Given the description of an element on the screen output the (x, y) to click on. 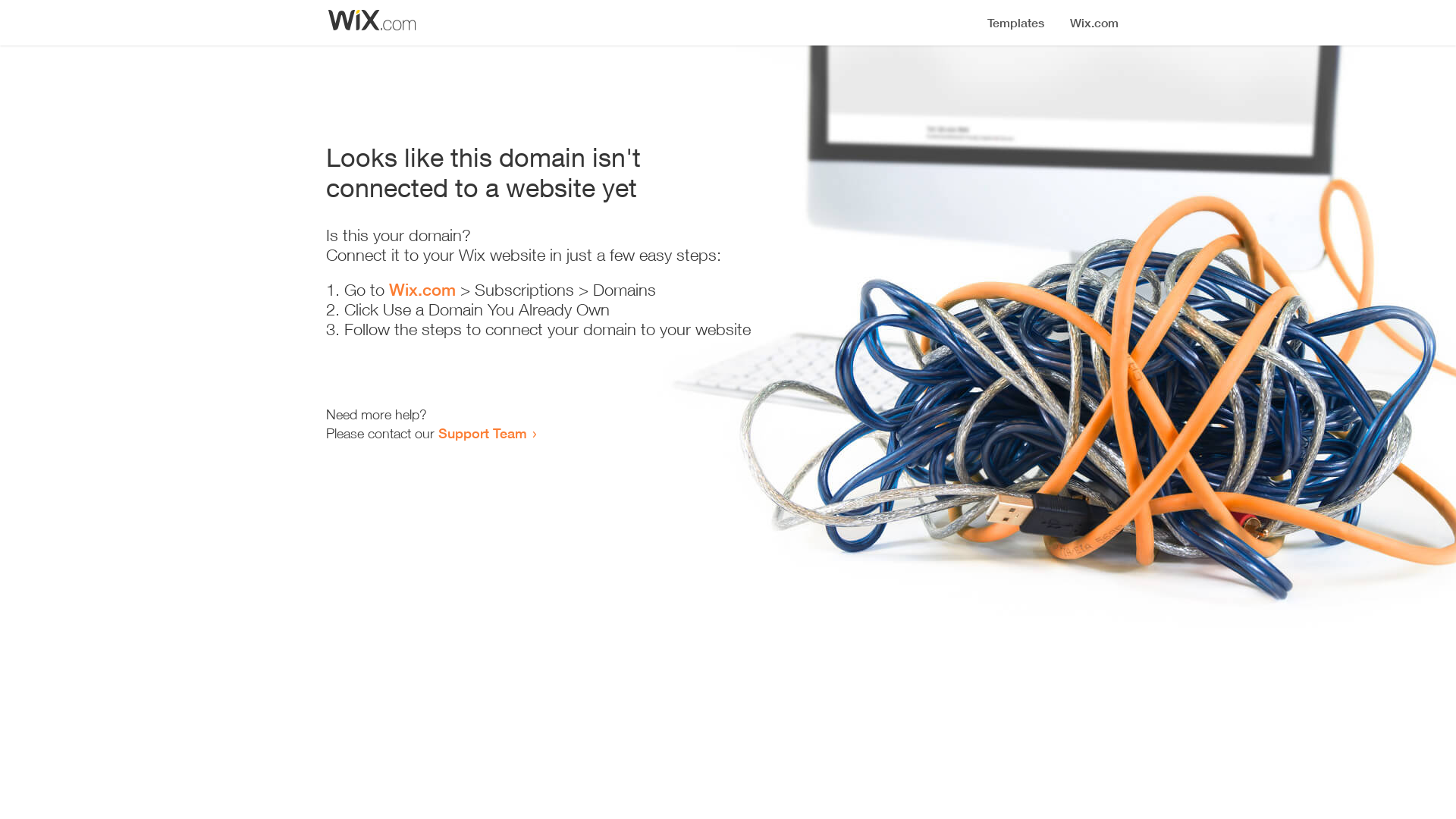
Support Team Element type: text (482, 432)
Wix.com Element type: text (422, 289)
